Given the description of an element on the screen output the (x, y) to click on. 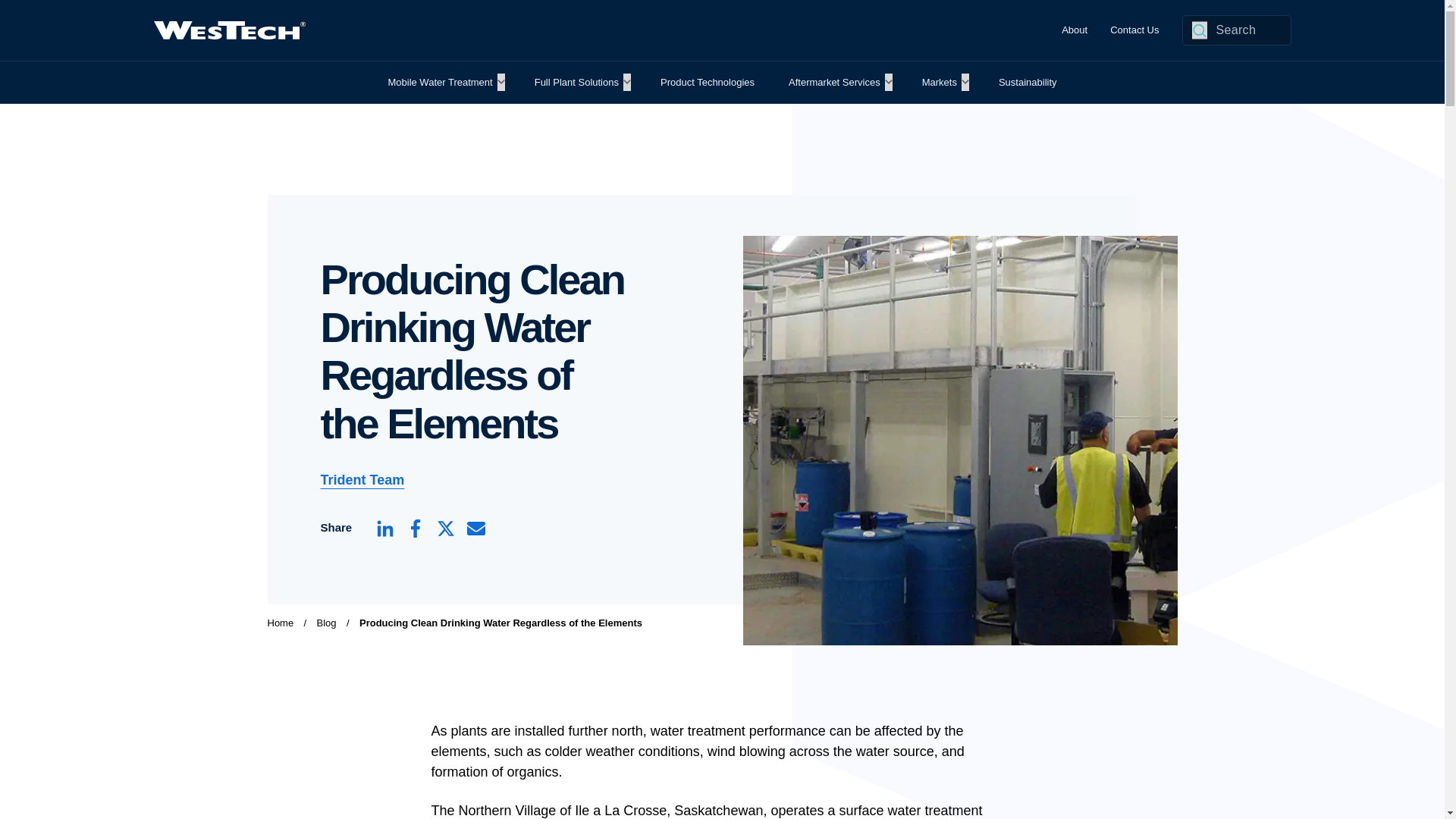
Aftermarket Services (834, 82)
Home (282, 622)
Trident Team (362, 480)
Mobile Water Treatment (439, 82)
Homepage (228, 30)
Sustainability (1026, 82)
About (1074, 29)
Producing Clean Drinking Water Regardless of the Elements (500, 622)
Markets (938, 82)
Full Plant Solutions (576, 82)
